Given the description of an element on the screen output the (x, y) to click on. 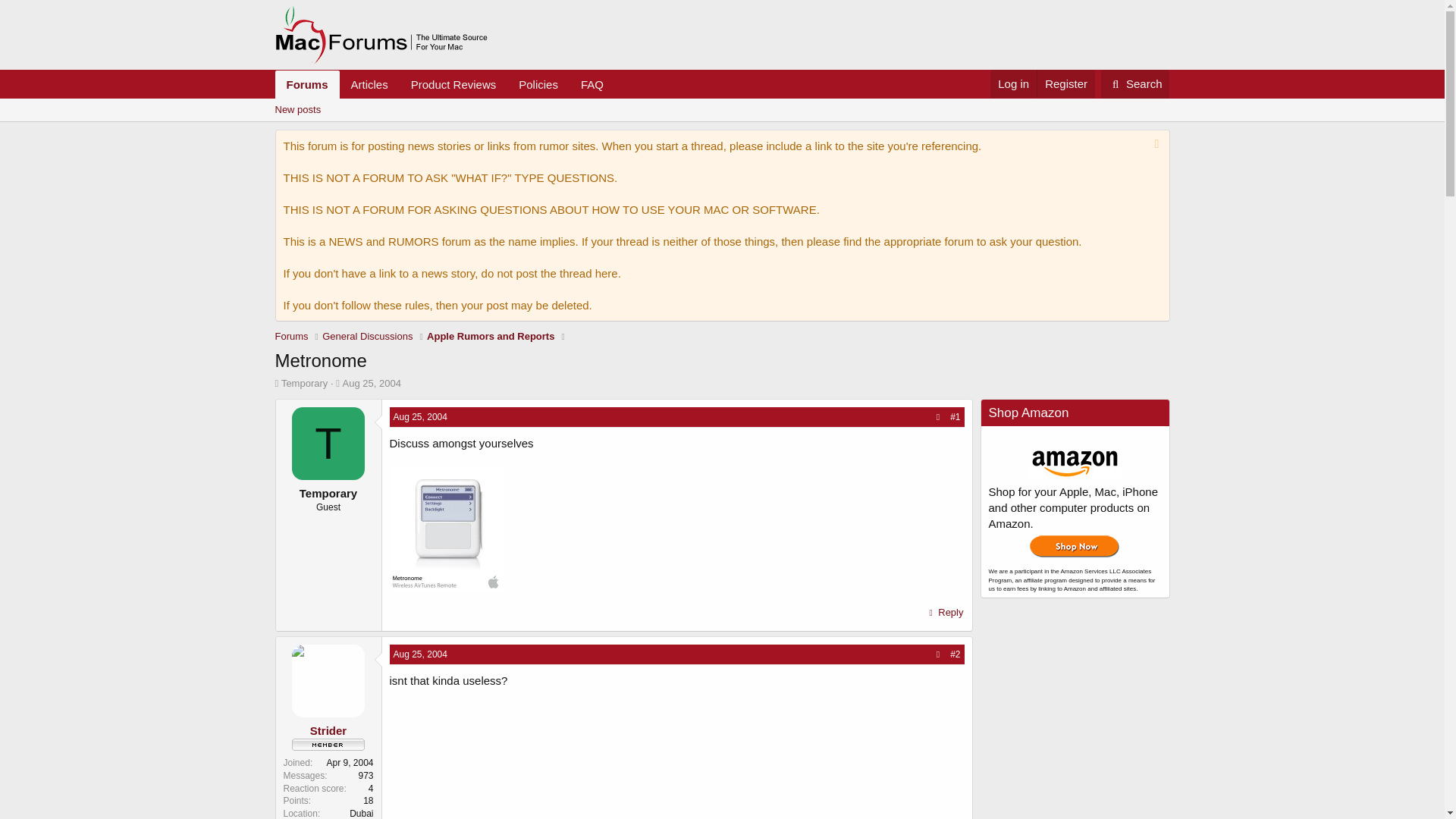
Product Reviews (453, 84)
Aug 25, 2004 (371, 383)
Forums (307, 84)
Aug 25, 2004 at 1:13 AM (419, 416)
Strider (328, 730)
Metronome.jpg (446, 528)
Reply (944, 612)
Articles (443, 84)
Forums (368, 84)
Aug 25, 2004 at 1:54 AM (291, 336)
Register (419, 654)
Search (1065, 83)
Apple Rumors and Reports (1135, 83)
Log in (490, 336)
